Given the description of an element on the screen output the (x, y) to click on. 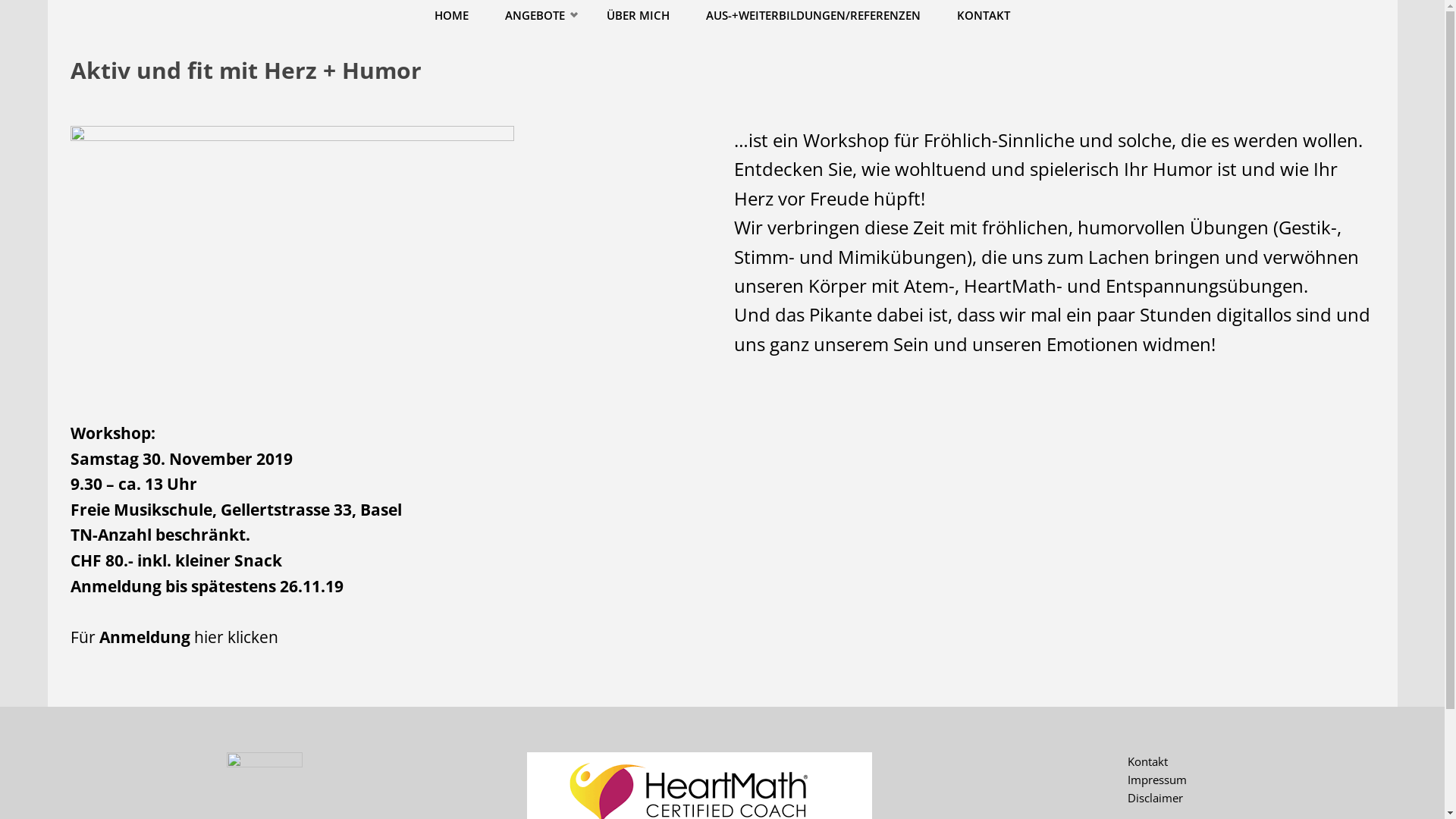
hier klicken Element type: text (236, 636)
Kontakt Element type: text (1147, 760)
HOME Element type: text (451, 15)
Anmeldung Element type: text (145, 636)
AUS-+WEITERBILDUNGEN/REFERENZEN Element type: text (812, 15)
Impressum Element type: text (1156, 779)
KONTAKT Element type: text (983, 15)
Disclaimer Element type: text (1155, 797)
ANGEBOTE Element type: text (537, 15)
